Given the description of an element on the screen output the (x, y) to click on. 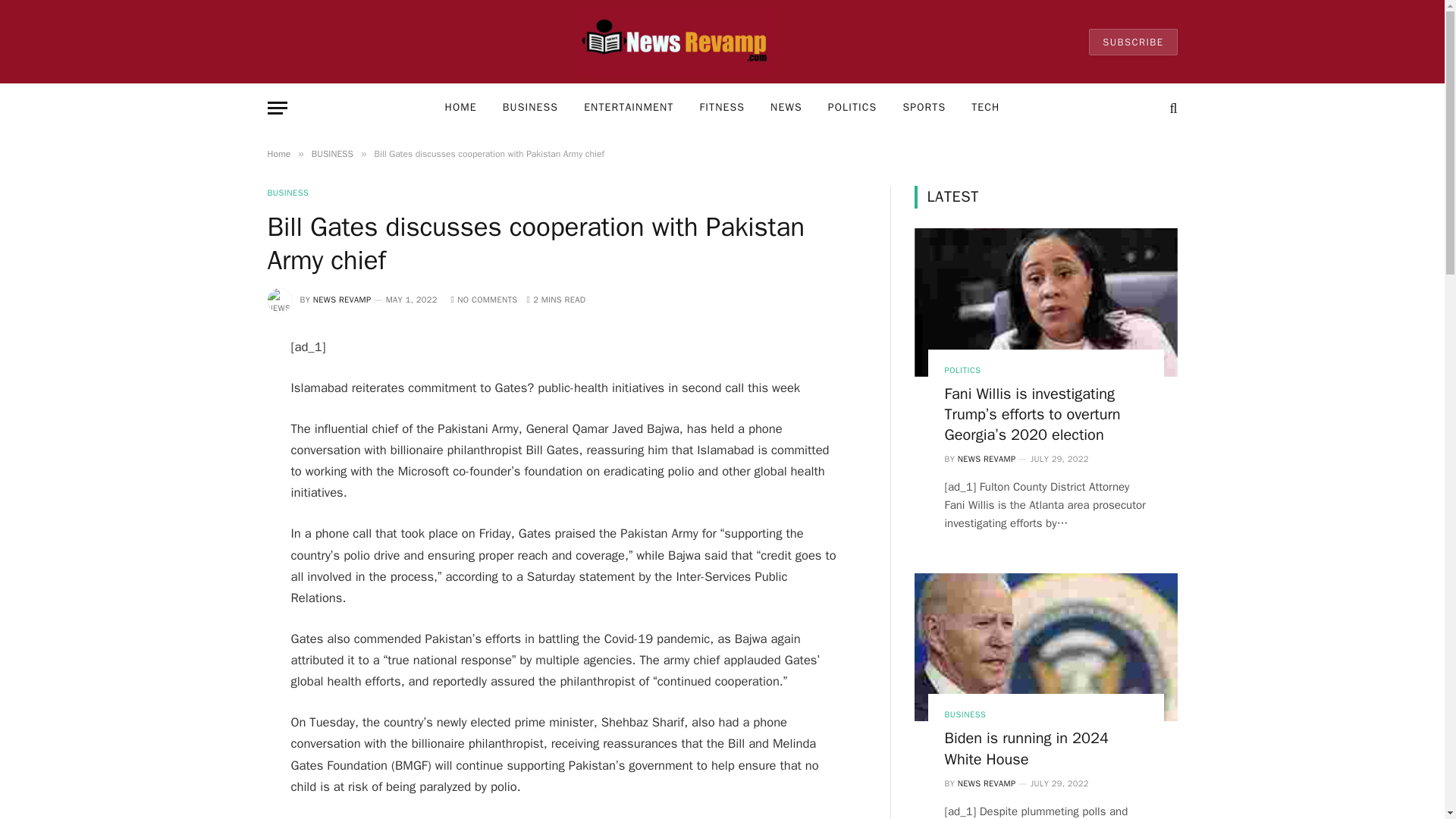
SUBSCRIBE (1132, 41)
Posts by News Revamp (987, 458)
News Revamp (677, 41)
TECH (984, 107)
NEWS REVAMP (342, 299)
SPORTS (923, 107)
BUSINESS (529, 107)
POLITICS (852, 107)
Posts by News Revamp (987, 783)
BUSINESS (287, 192)
ENTERTAINMENT (627, 107)
Posts by News Revamp (342, 299)
Biden is running in 2024 White House (1045, 647)
NEWS (786, 107)
BUSINESS (332, 153)
